Given the description of an element on the screen output the (x, y) to click on. 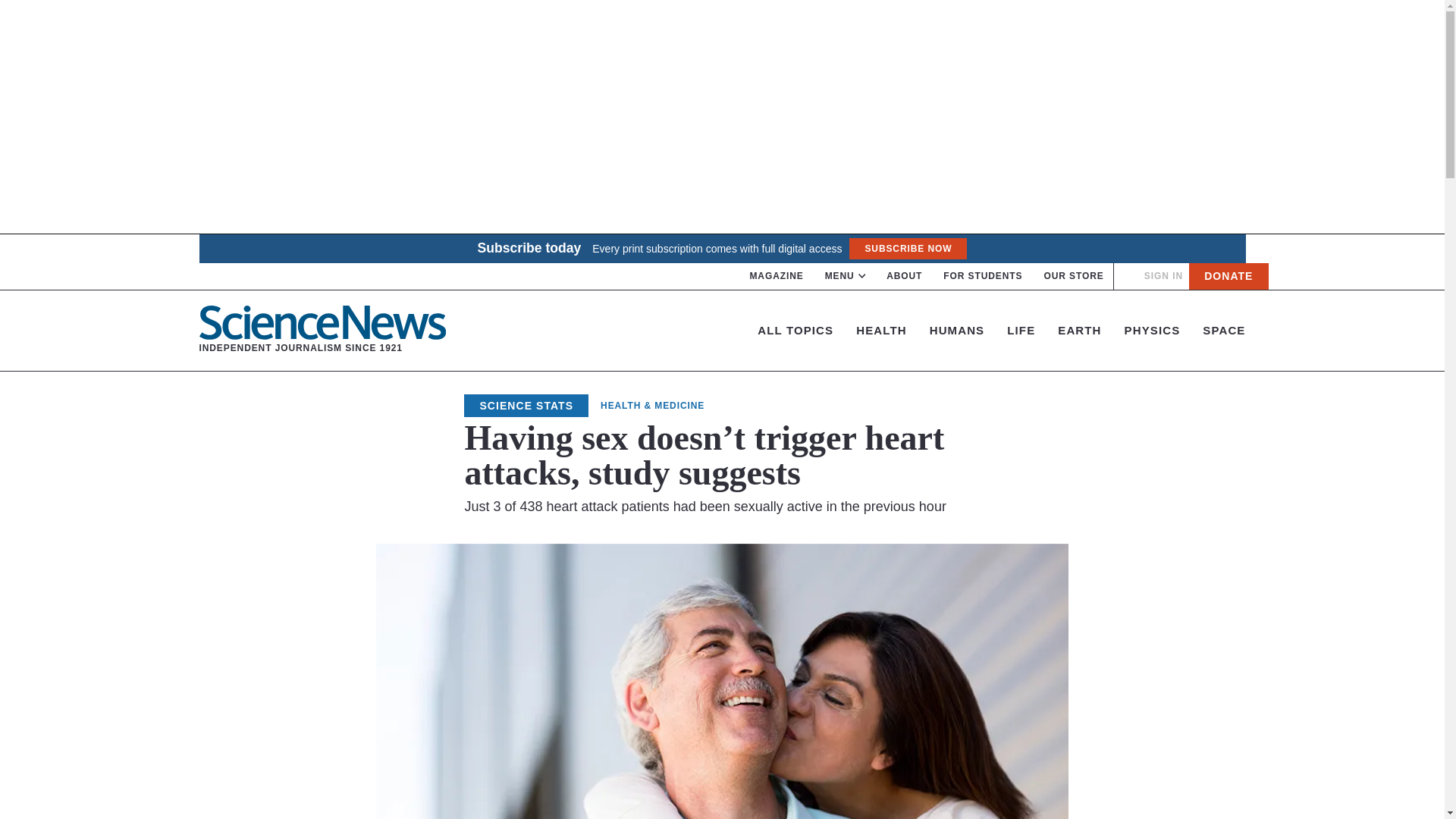
DONATE (1228, 275)
OUR STORE (1073, 275)
MAGAZINE (776, 275)
SIGN IN (1163, 275)
Open search (1128, 275)
ABOUT (903, 275)
MENU (845, 275)
ALL TOPICS (794, 329)
SUBSCRIBE NOW (907, 248)
FOR STUDENTS (982, 275)
